Given the description of an element on the screen output the (x, y) to click on. 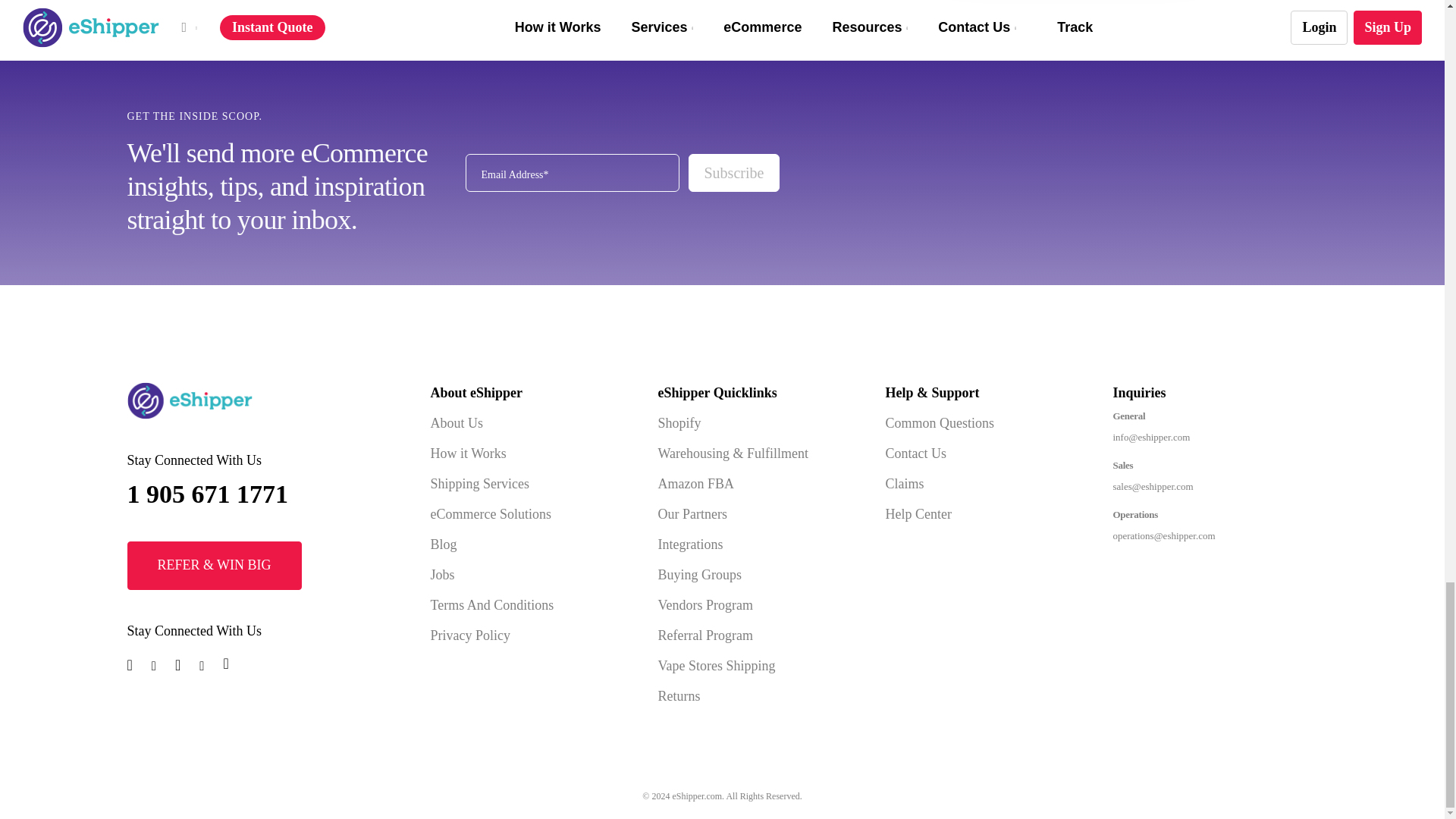
Subscribe (734, 172)
